Given the description of an element on the screen output the (x, y) to click on. 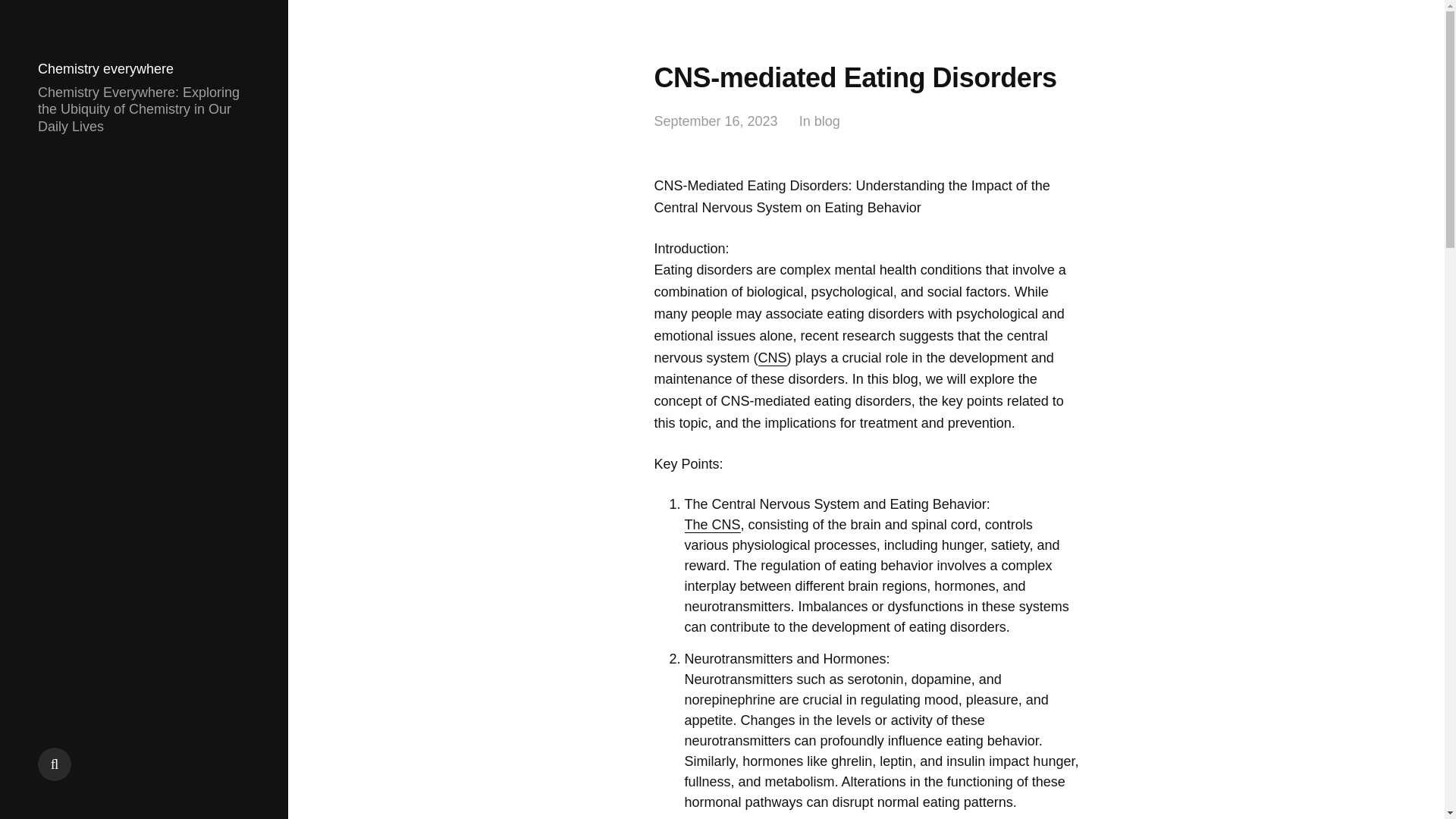
September 16, 2023 (715, 121)
Chemistry everywhere (105, 68)
CNS (772, 358)
blog (826, 121)
The CNS (711, 524)
